Given the description of an element on the screen output the (x, y) to click on. 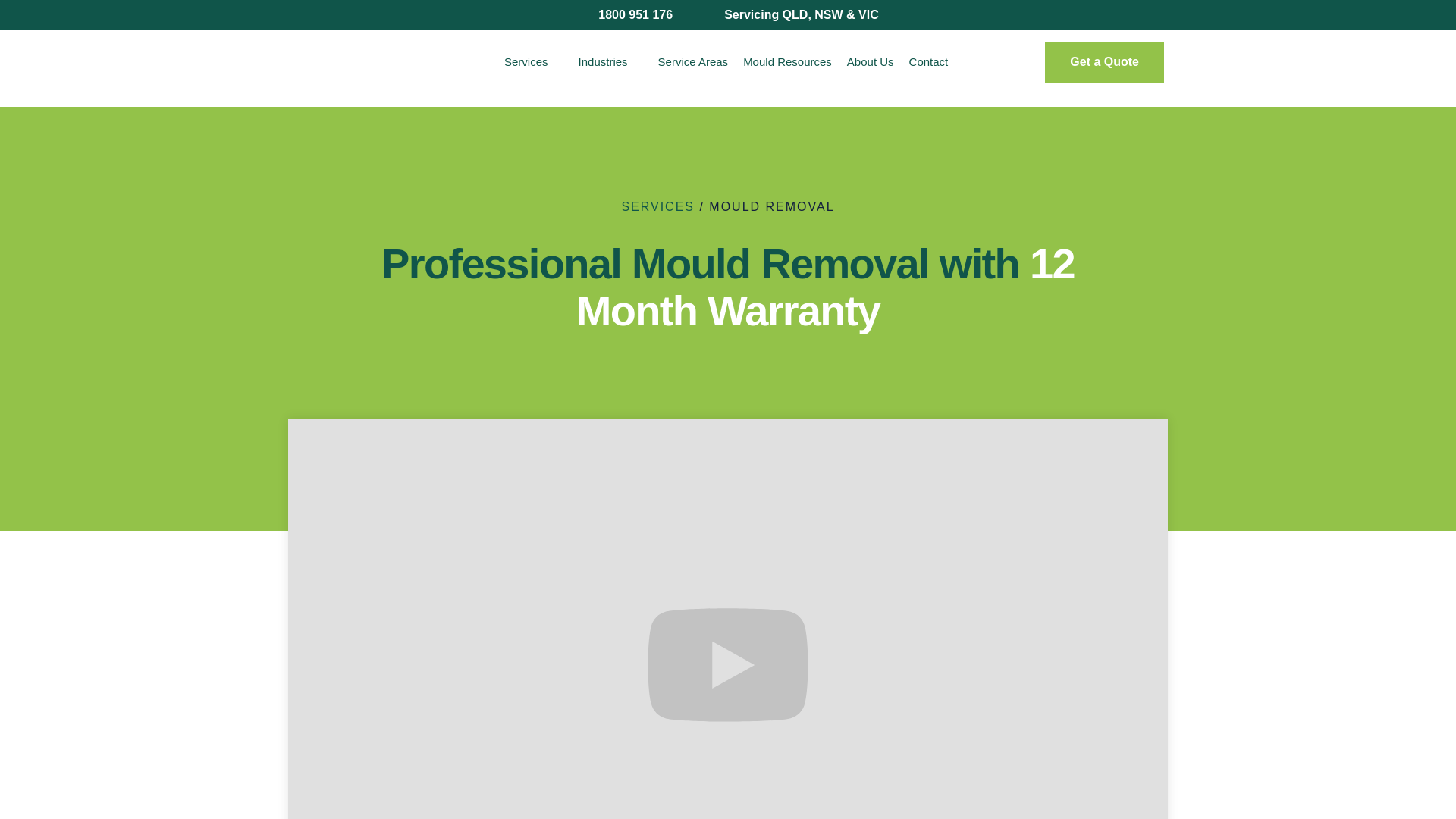
1800 951 176 Element type: text (624, 14)
Mould Resources Element type: text (787, 62)
Get a Quote Element type: text (1104, 61)
Contact Element type: text (928, 62)
